Given the description of an element on the screen output the (x, y) to click on. 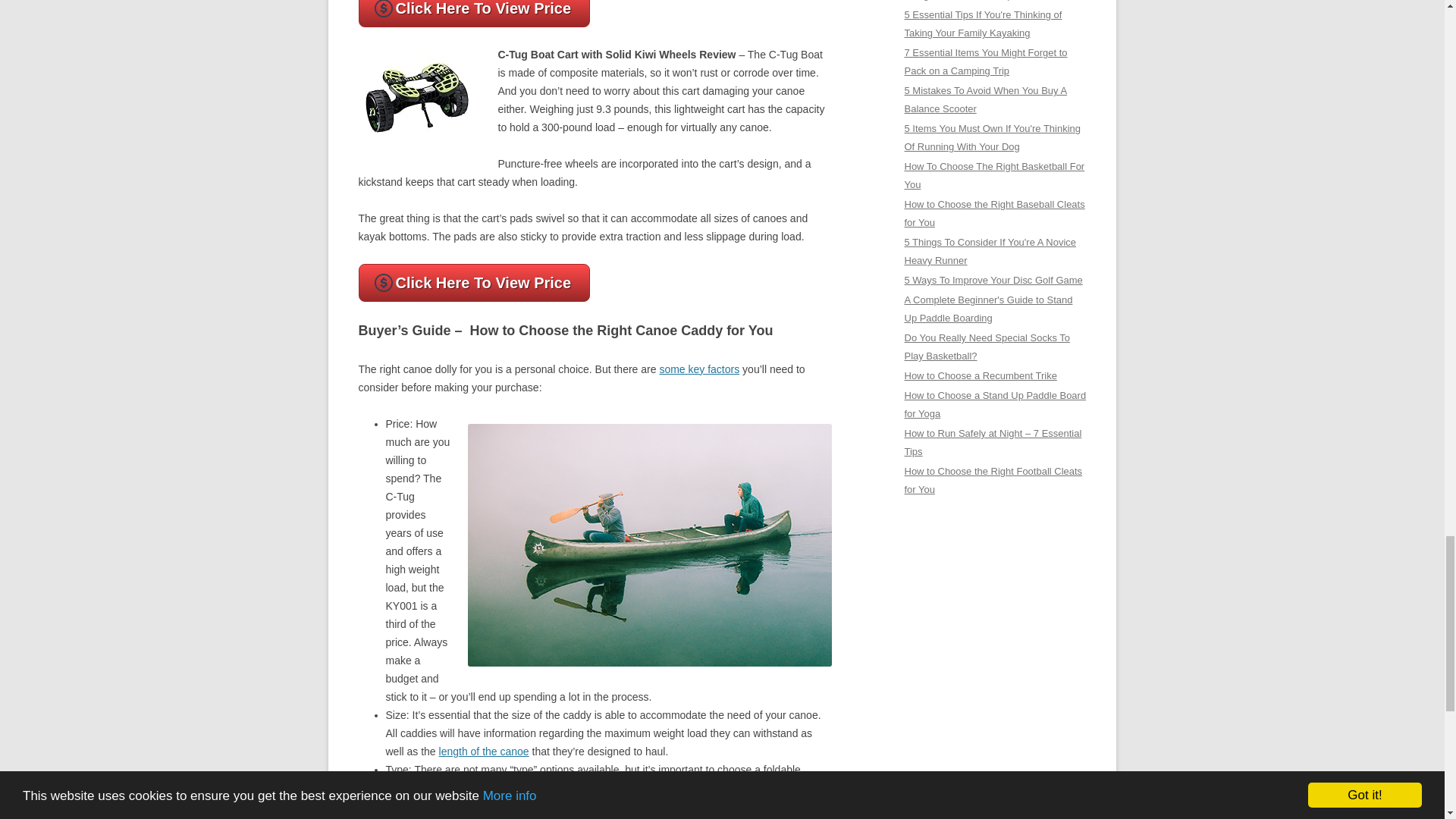
some key factors (699, 369)
Click Here To View Price (473, 282)
Click Here To View Price (473, 13)
length of the canoe (484, 751)
